Given the description of an element on the screen output the (x, y) to click on. 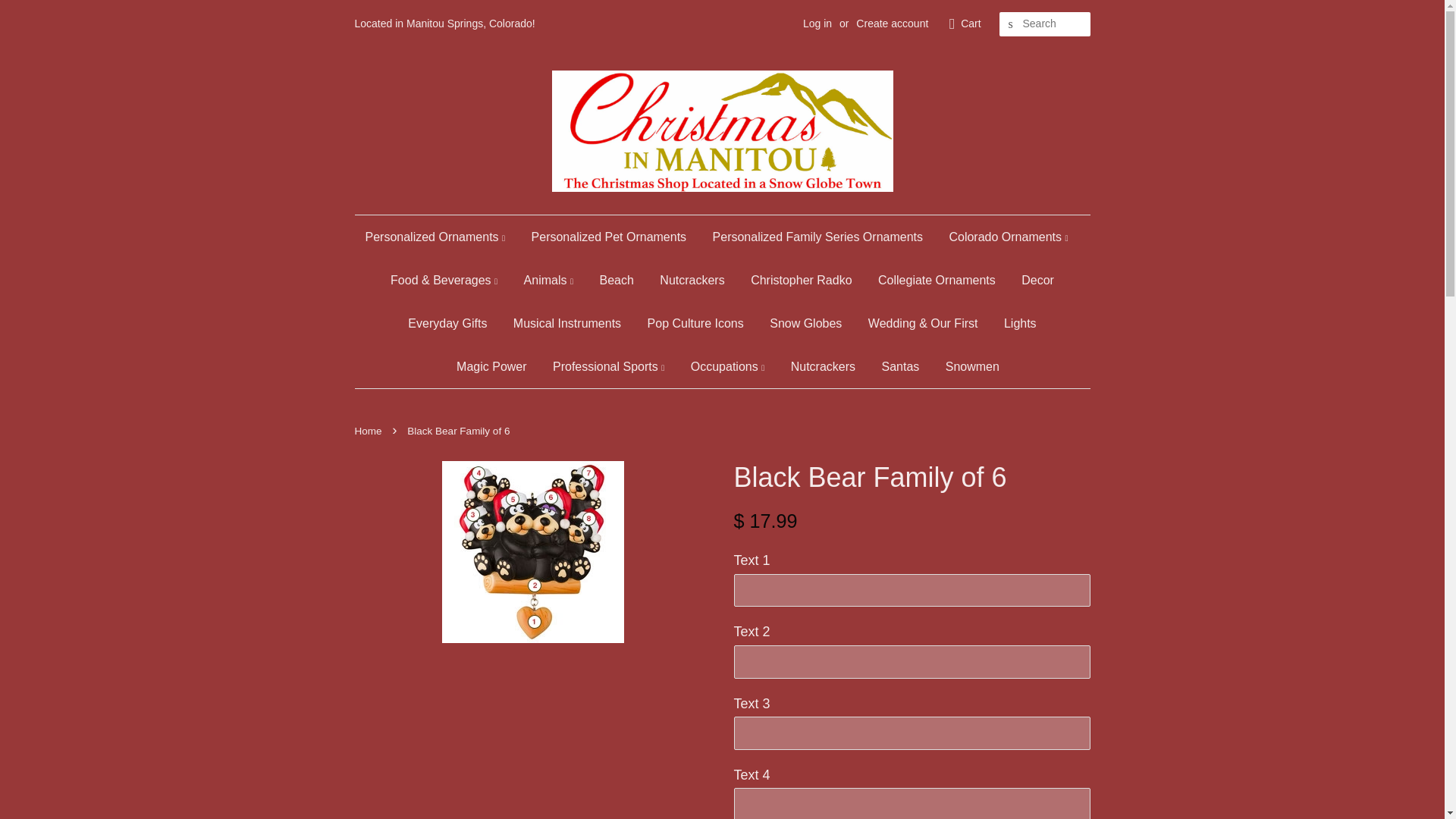
Log in (817, 23)
Create account (892, 23)
Back to the frontpage (370, 430)
Cart (969, 24)
Search (1010, 24)
